Given the description of an element on the screen output the (x, y) to click on. 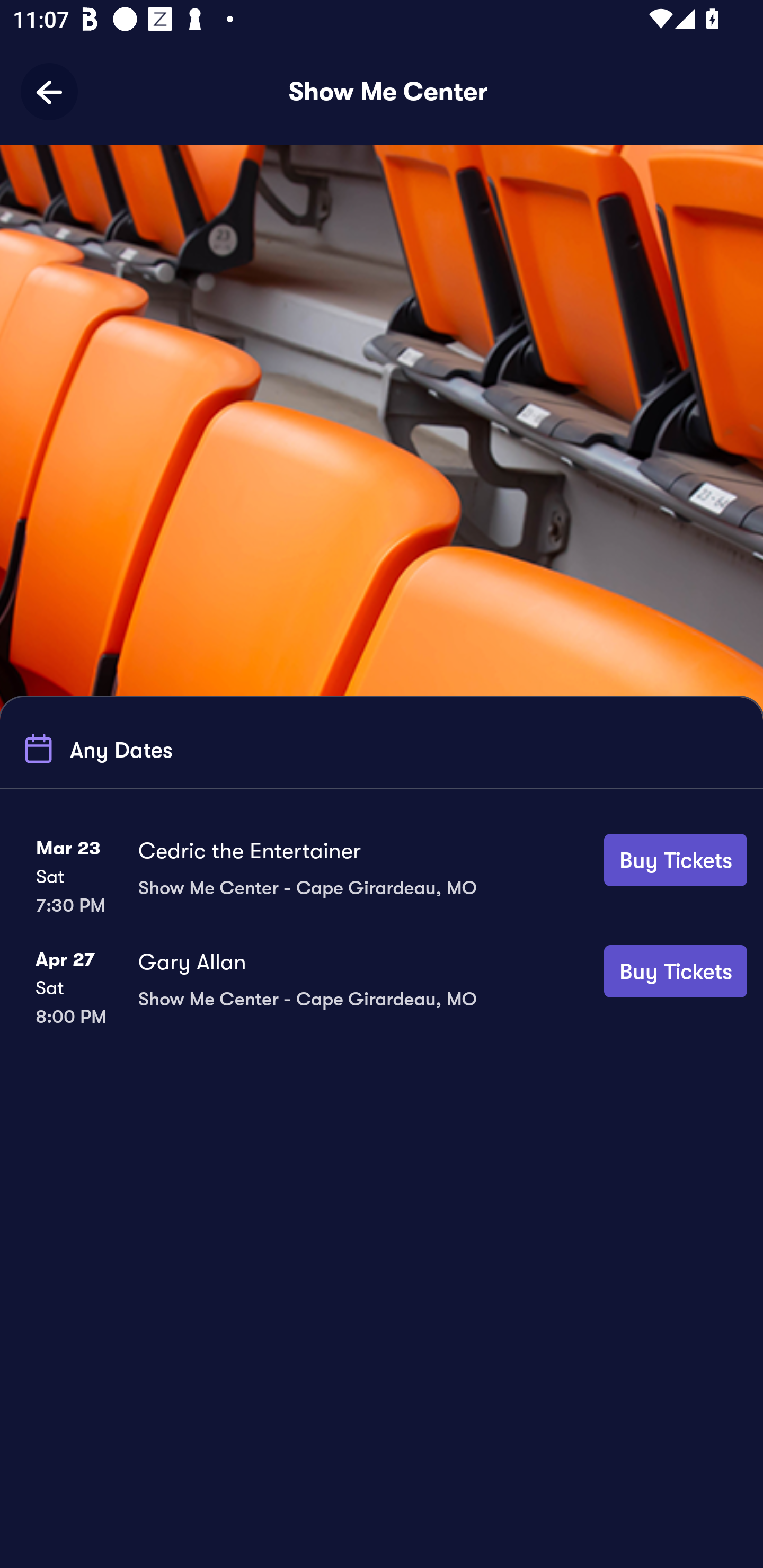
Any Dates (95, 749)
